Given the description of an element on the screen output the (x, y) to click on. 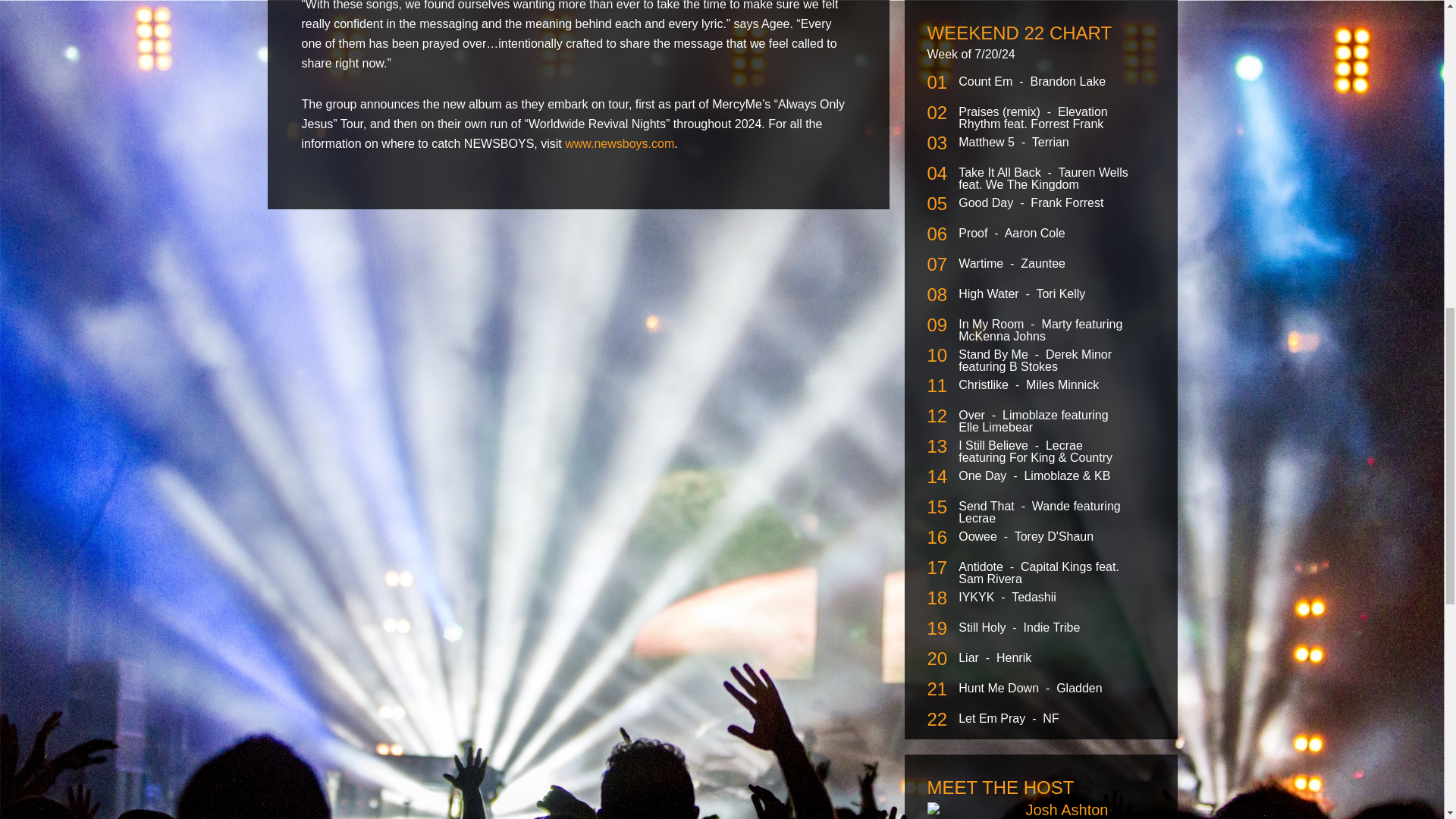
I Still Believe (994, 445)
Limoblaze featuring Elle Limebear (1033, 421)
Derek Minor featuring B Stokes (1035, 360)
Miles Minnick (1062, 384)
Over (973, 414)
Christlike (984, 384)
Marty featuring McKenna Johns (1040, 330)
Wartime (982, 263)
Elevation Rhythm feat. Forrest Frank (1033, 117)
Brandon Lake (1067, 81)
Matthew 5 (987, 141)
In My Room (992, 323)
Stand By Me (994, 354)
Terrian (1050, 141)
Frank Forrest (1066, 202)
